Given the description of an element on the screen output the (x, y) to click on. 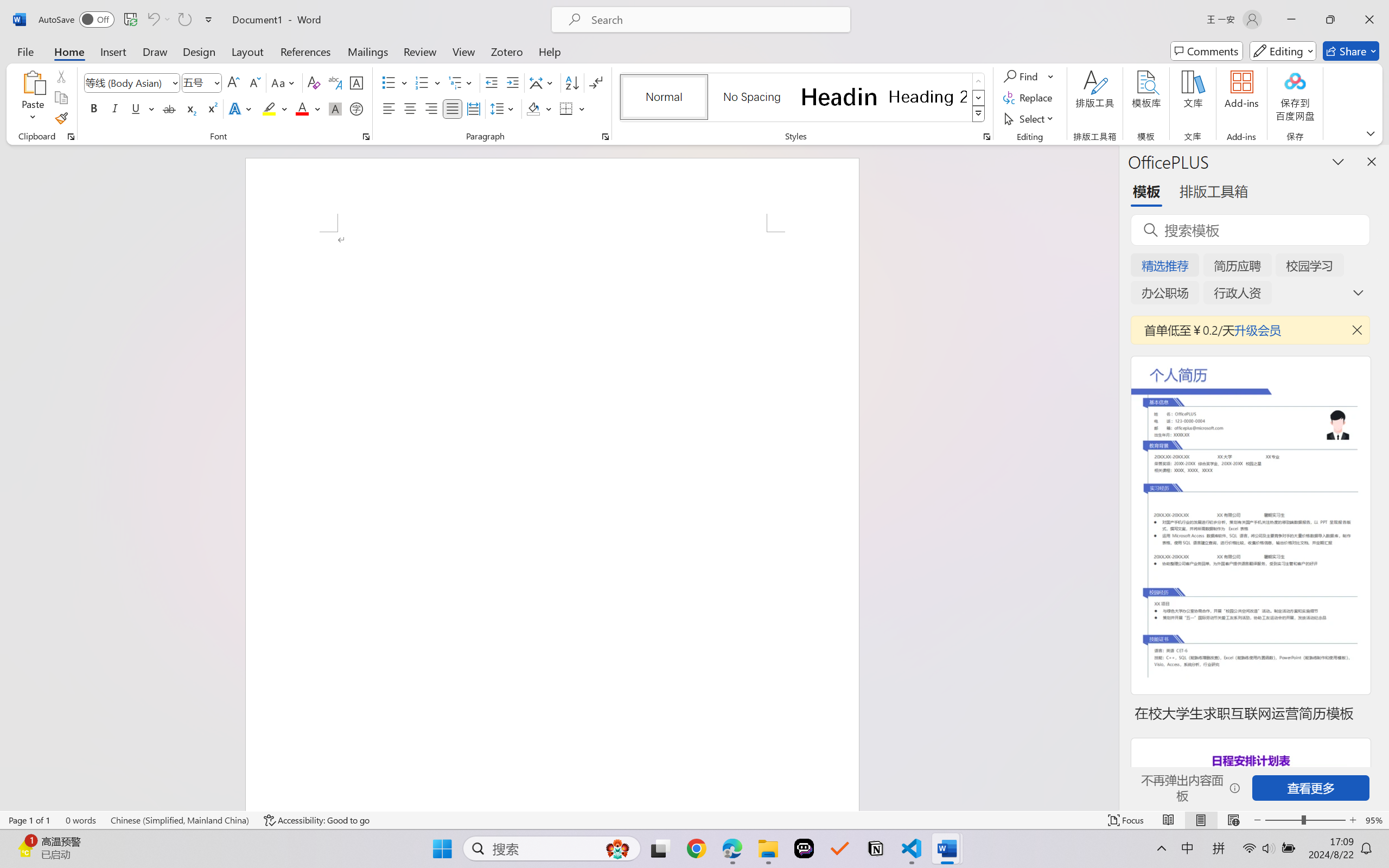
Can't Undo (152, 19)
